Given the description of an element on the screen output the (x, y) to click on. 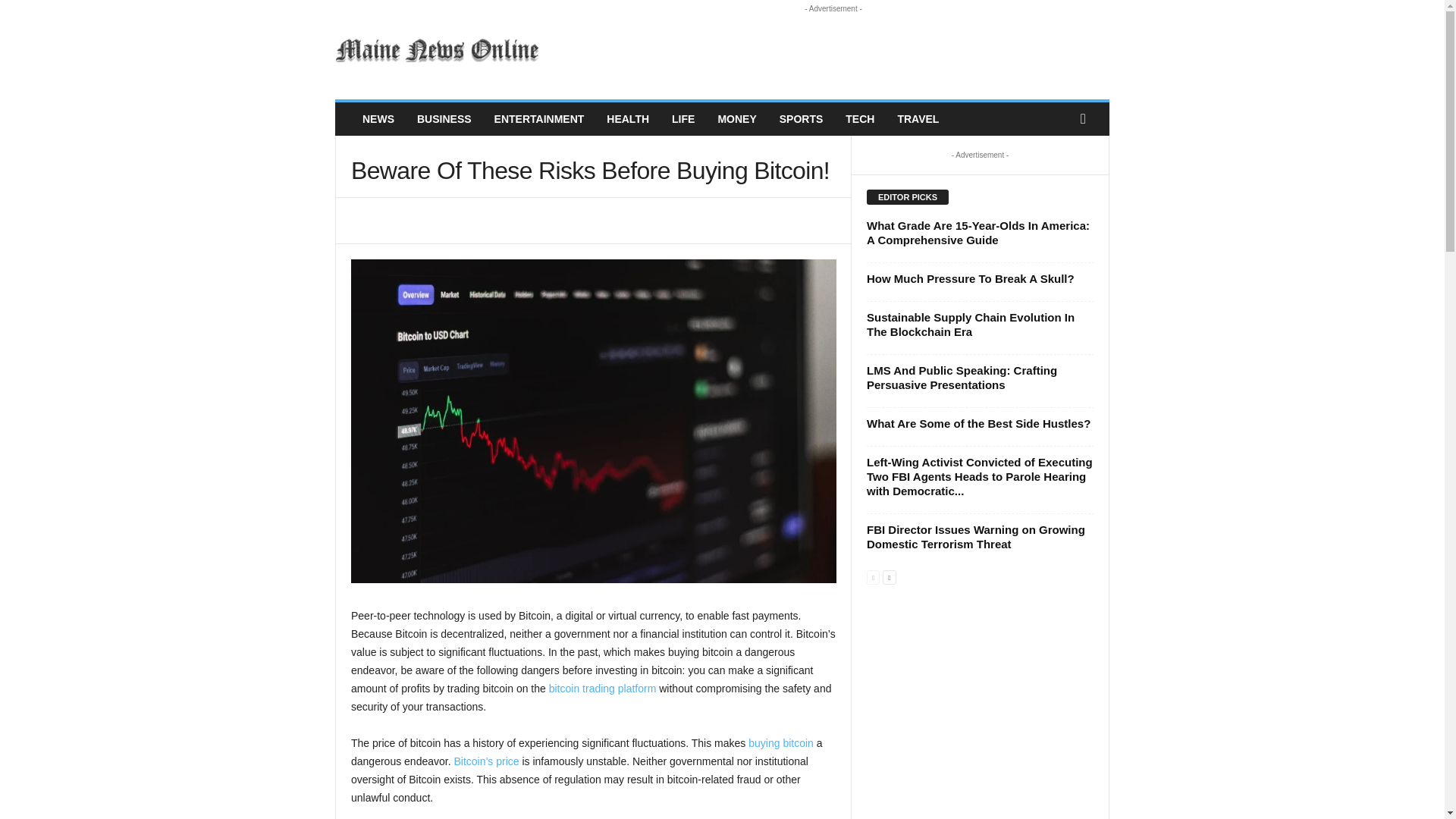
SPORTS (801, 118)
BUSINESS (444, 118)
bitcoin trading platform (602, 688)
buying bitcoin (780, 743)
ENTERTAINMENT (539, 118)
LIFE (683, 118)
MONEY (736, 118)
HEALTH (628, 118)
NEWS (378, 118)
TRAVEL (917, 118)
TECH (859, 118)
Maine News Online (437, 49)
